Given the description of an element on the screen output the (x, y) to click on. 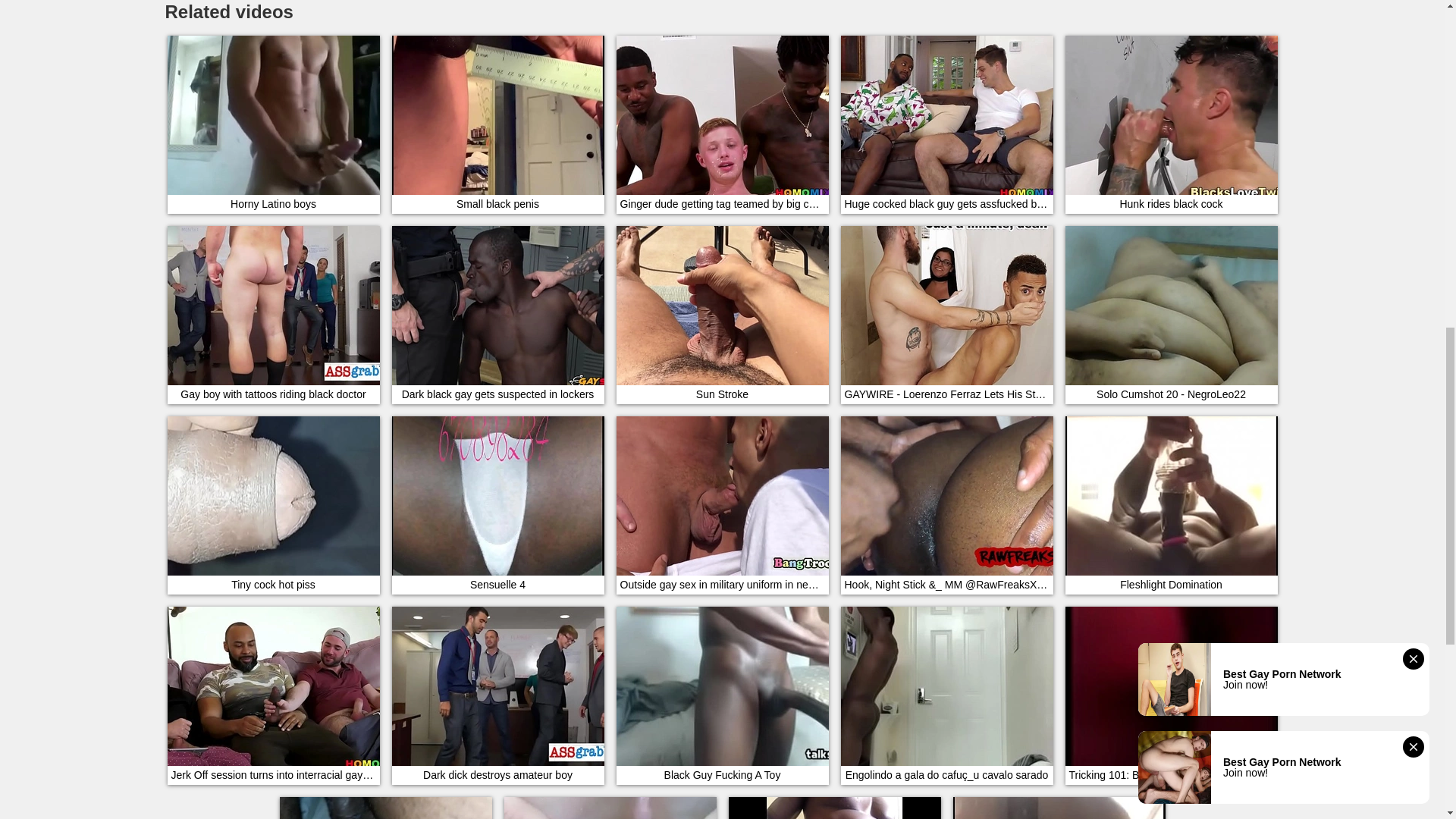
Sensuelle 4 (497, 504)
Sun Stroke (721, 315)
Biorksen video- BIG BLACK HUSBAND (834, 807)
Black Guy Fucking A Toy (721, 695)
Horny Latino boys (272, 123)
Tiny cock hot piss (272, 504)
Sensuelle 4 (497, 504)
Solo Cumshot 20 - NegroLeo22 (1170, 315)
Gay boy with tattoos riding black doctor (272, 315)
Solo Cumshot 20 - NegroLeo22 (1170, 315)
Small black penis (497, 123)
Sun Stroke (721, 315)
Hunk rides black cock (1170, 123)
Tiny cock hot piss (272, 504)
